Given the description of an element on the screen output the (x, y) to click on. 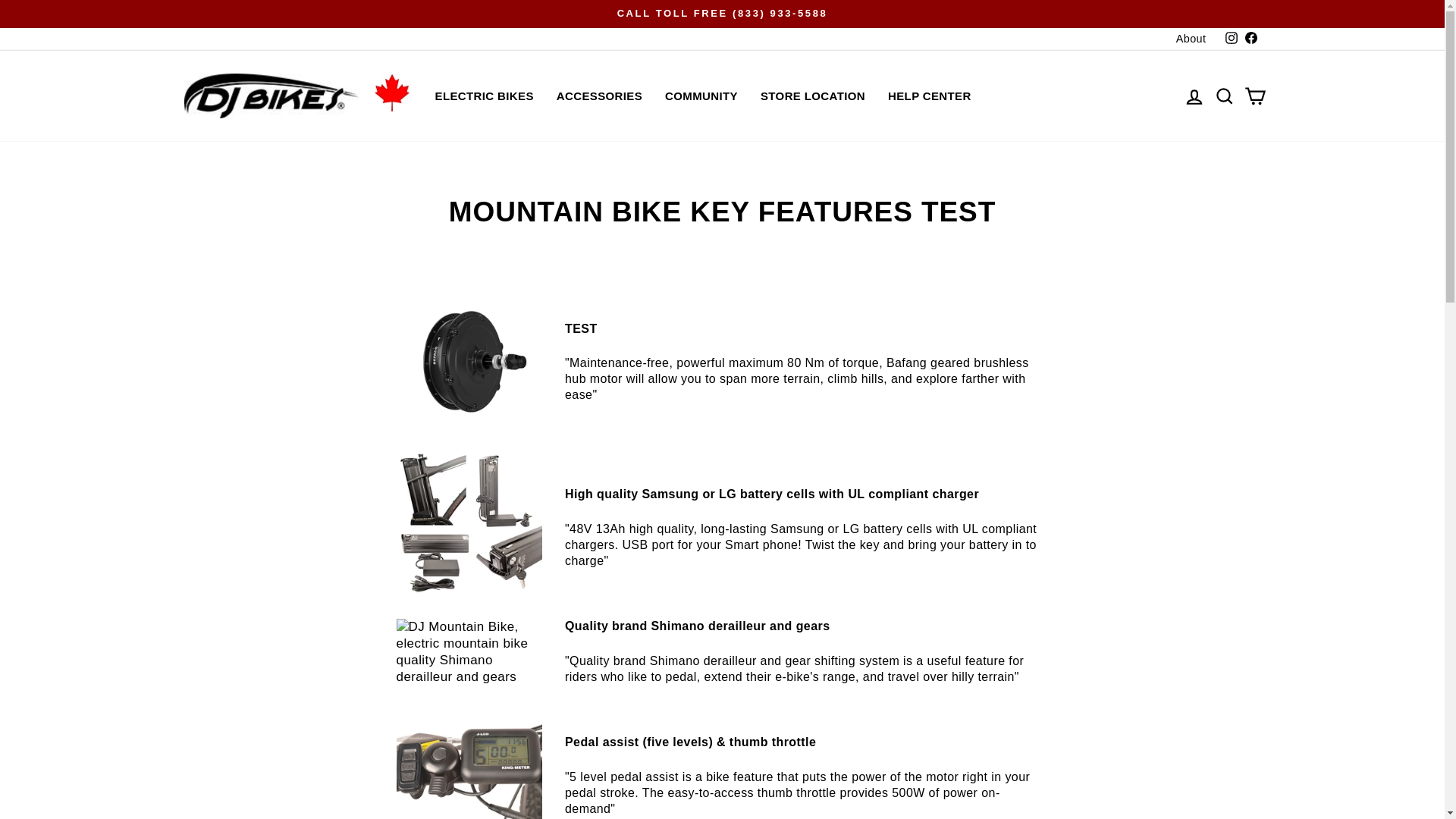
DJ Bikes Canada on Instagram (1230, 38)
DJ Bikes Canada on Facebook (1250, 38)
